Given the description of an element on the screen output the (x, y) to click on. 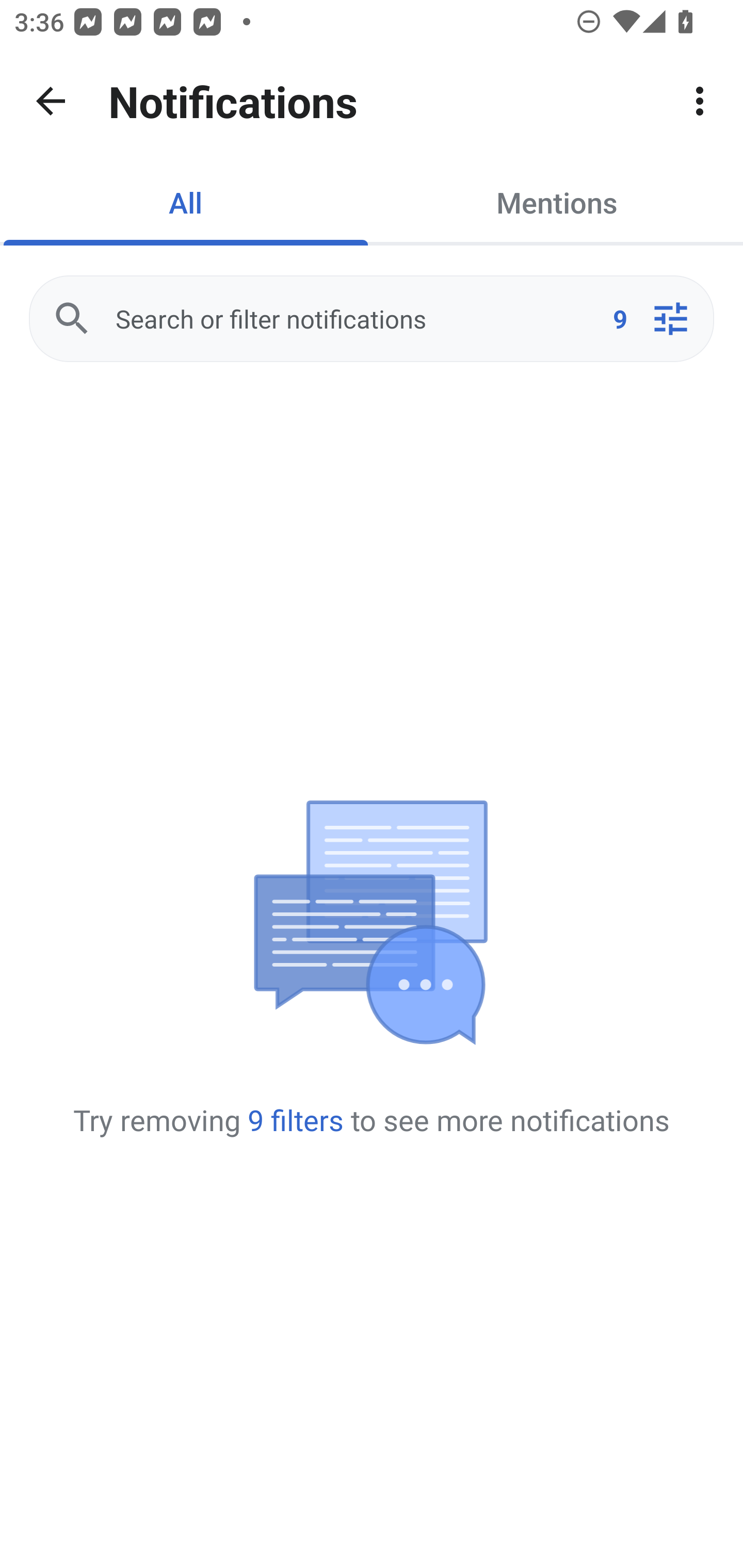
Navigate up (50, 101)
More (699, 101)
Mentions (557, 202)
Notification filter (670, 318)
